Given the description of an element on the screen output the (x, y) to click on. 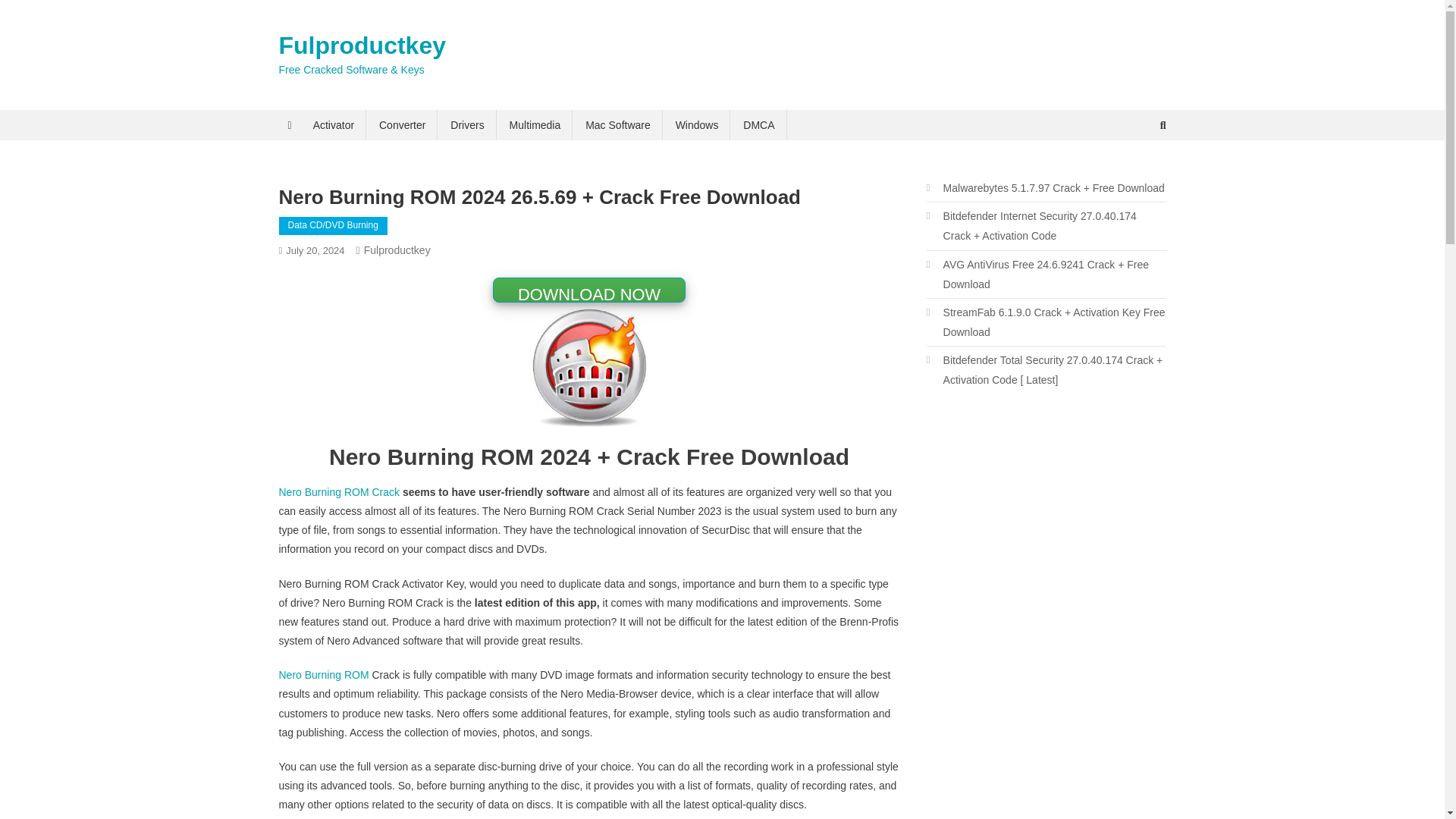
Nero Burning ROM Crack (339, 491)
July 20, 2024 (314, 250)
Converter (402, 124)
Nero Burning ROM (324, 674)
DOWNLOAD NOW (589, 289)
DOWNLOAD NOW (589, 288)
Fulproductkey (397, 250)
Mac Software (617, 124)
Multimedia (535, 124)
Fulproductkey (362, 44)
DMCA (758, 124)
Windows (696, 124)
Drivers (467, 124)
Search (1133, 175)
Activator (333, 124)
